Given the description of an element on the screen output the (x, y) to click on. 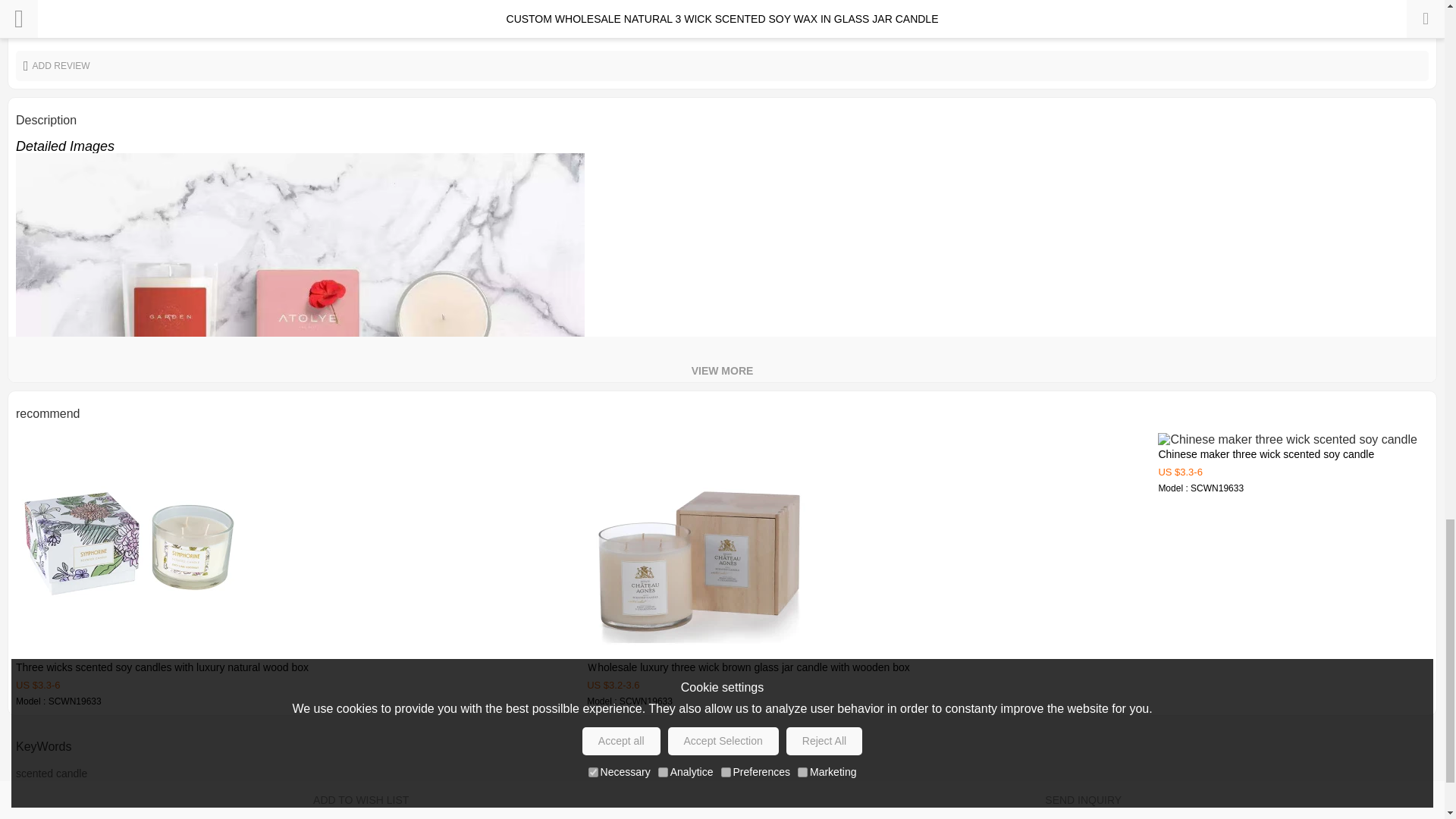
View More (721, 359)
VIEW MORE (721, 359)
ADD REVIEW (722, 65)
MORE (1409, 23)
Review (1409, 23)
Add review (722, 65)
